Given the description of an element on the screen output the (x, y) to click on. 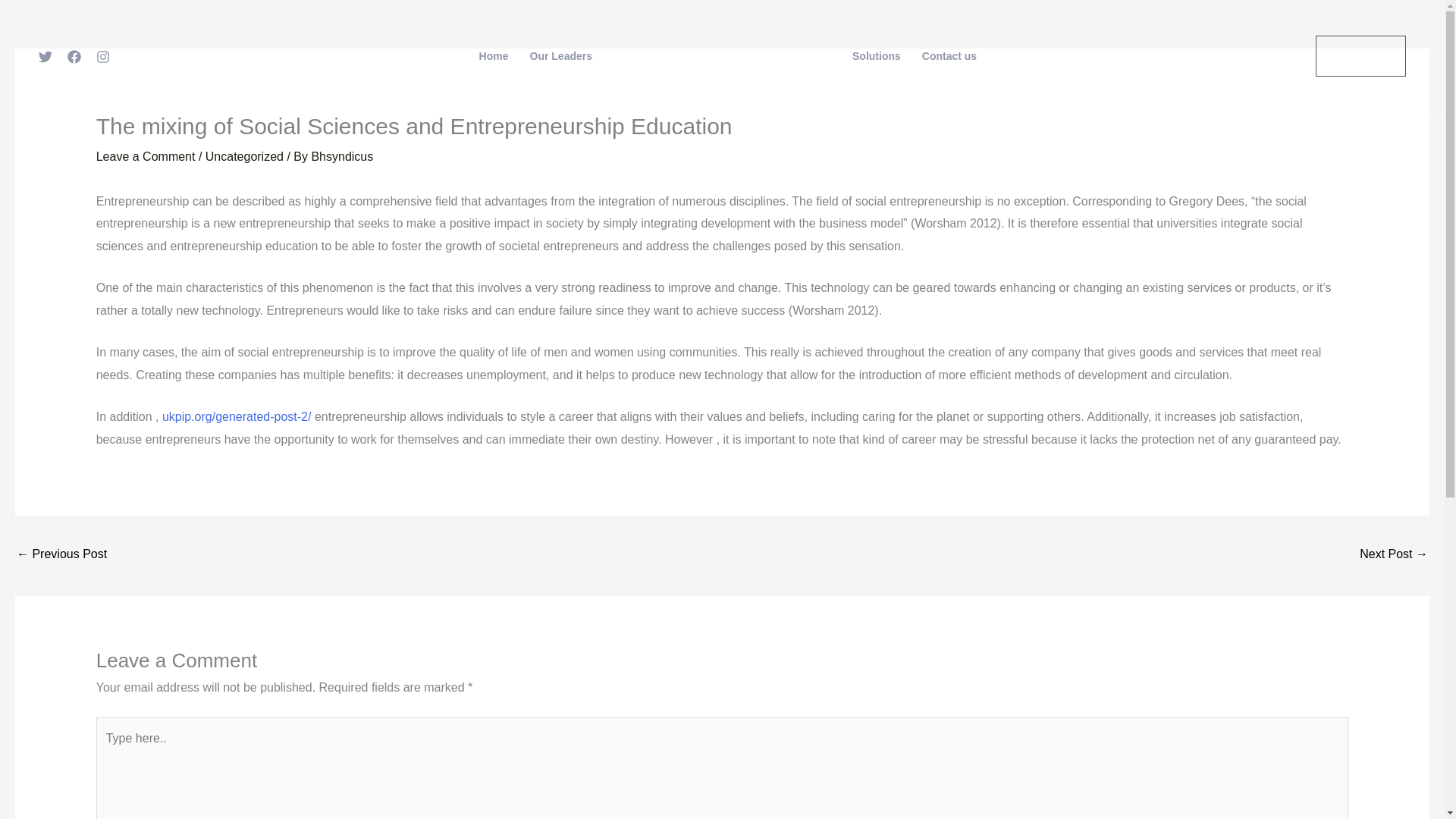
Solutions (876, 55)
Uncategorized (244, 155)
Contact Us (1361, 56)
View all posts by Bhsyndicus (341, 155)
Bhsyndicus (341, 155)
Our Leaders (560, 55)
Leave a Comment (145, 155)
Home (493, 55)
Contact us (949, 55)
